Given the description of an element on the screen output the (x, y) to click on. 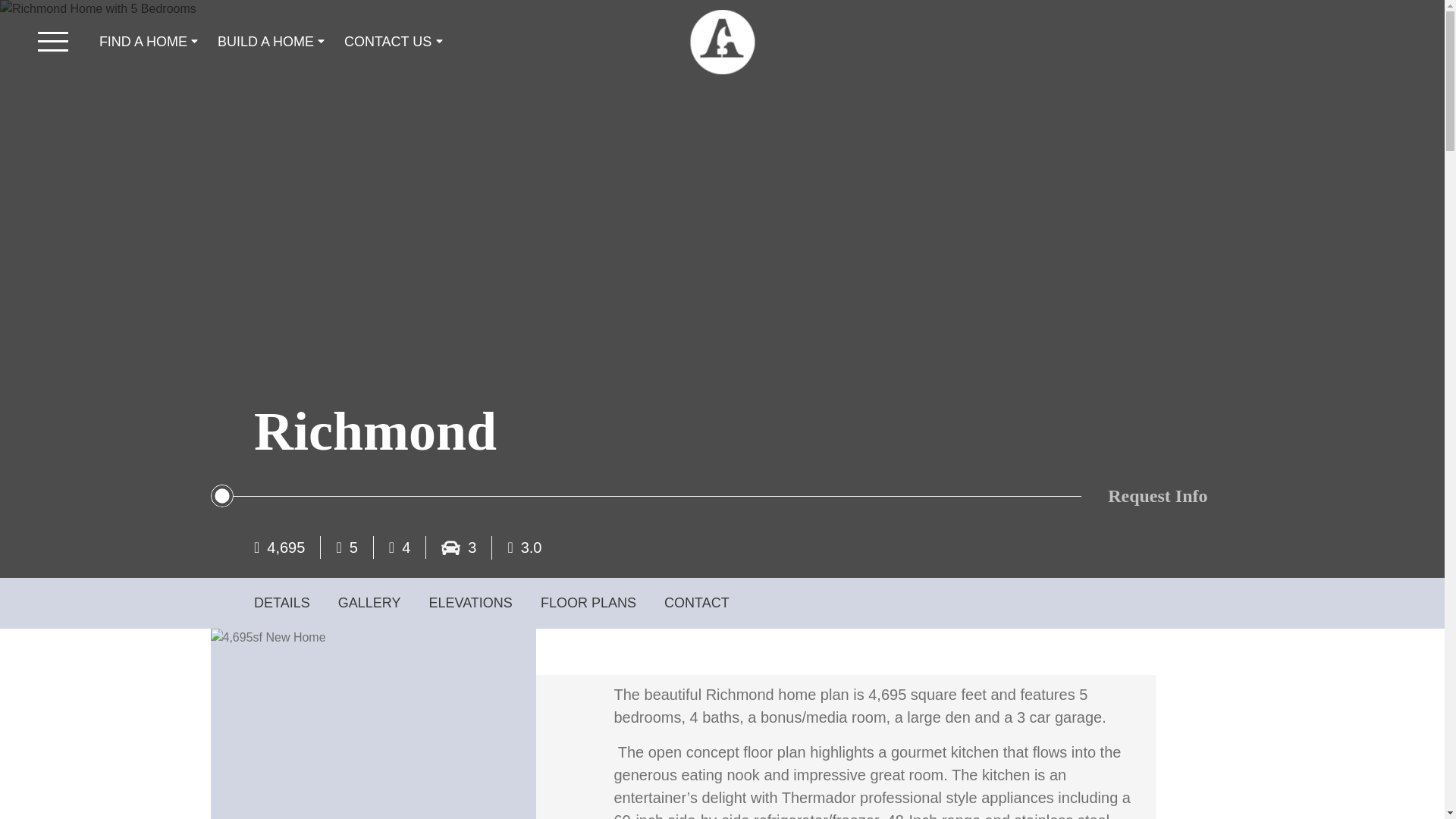
Return to Homepage (722, 41)
ELEVATIONS (470, 602)
ELEVATIONS (470, 602)
Request Info (1157, 495)
FLOOR PLANS (588, 602)
BUILD A HOME (272, 41)
DETAILS (281, 602)
GALLERY (369, 602)
CONTACT (696, 602)
DETAILS (281, 602)
